Given the description of an element on the screen output the (x, y) to click on. 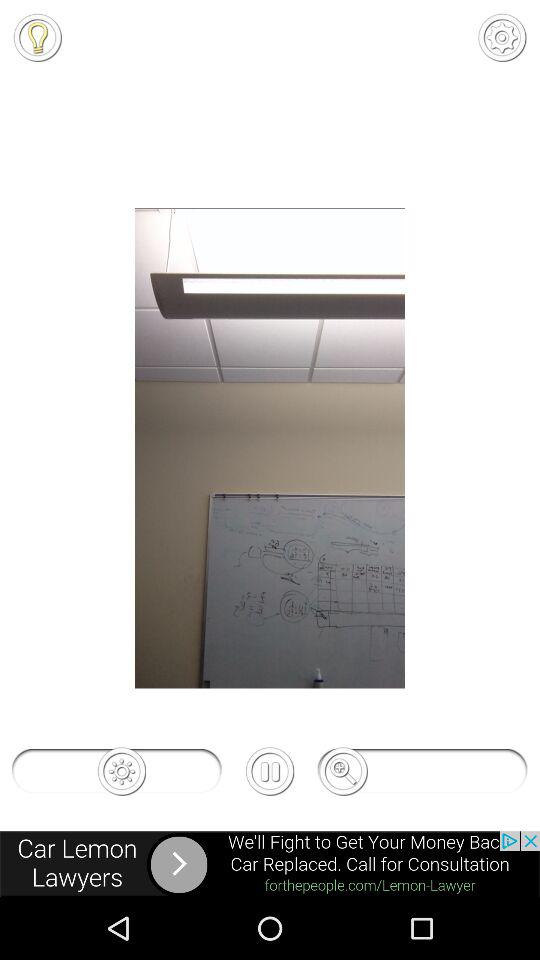
settings (502, 37)
